Given the description of an element on the screen output the (x, y) to click on. 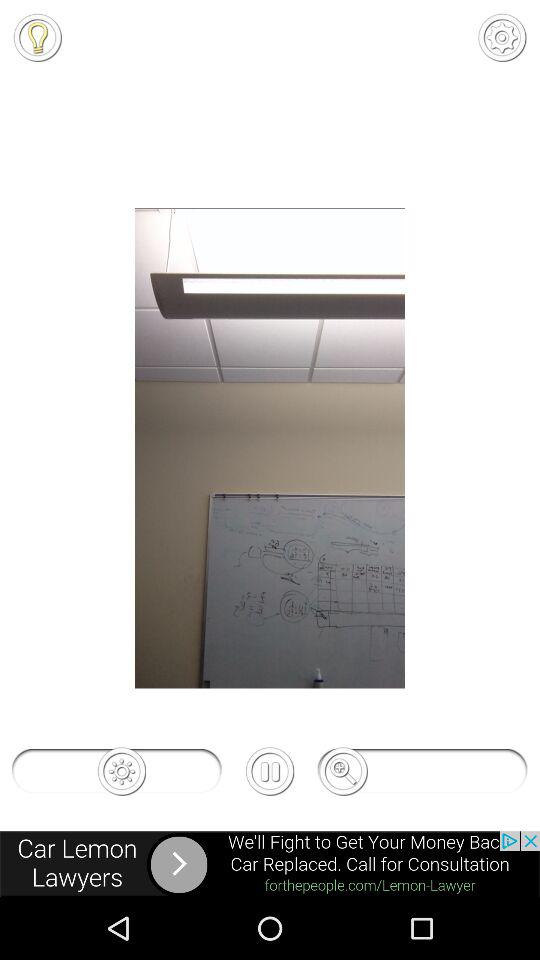
settings (502, 37)
